Given the description of an element on the screen output the (x, y) to click on. 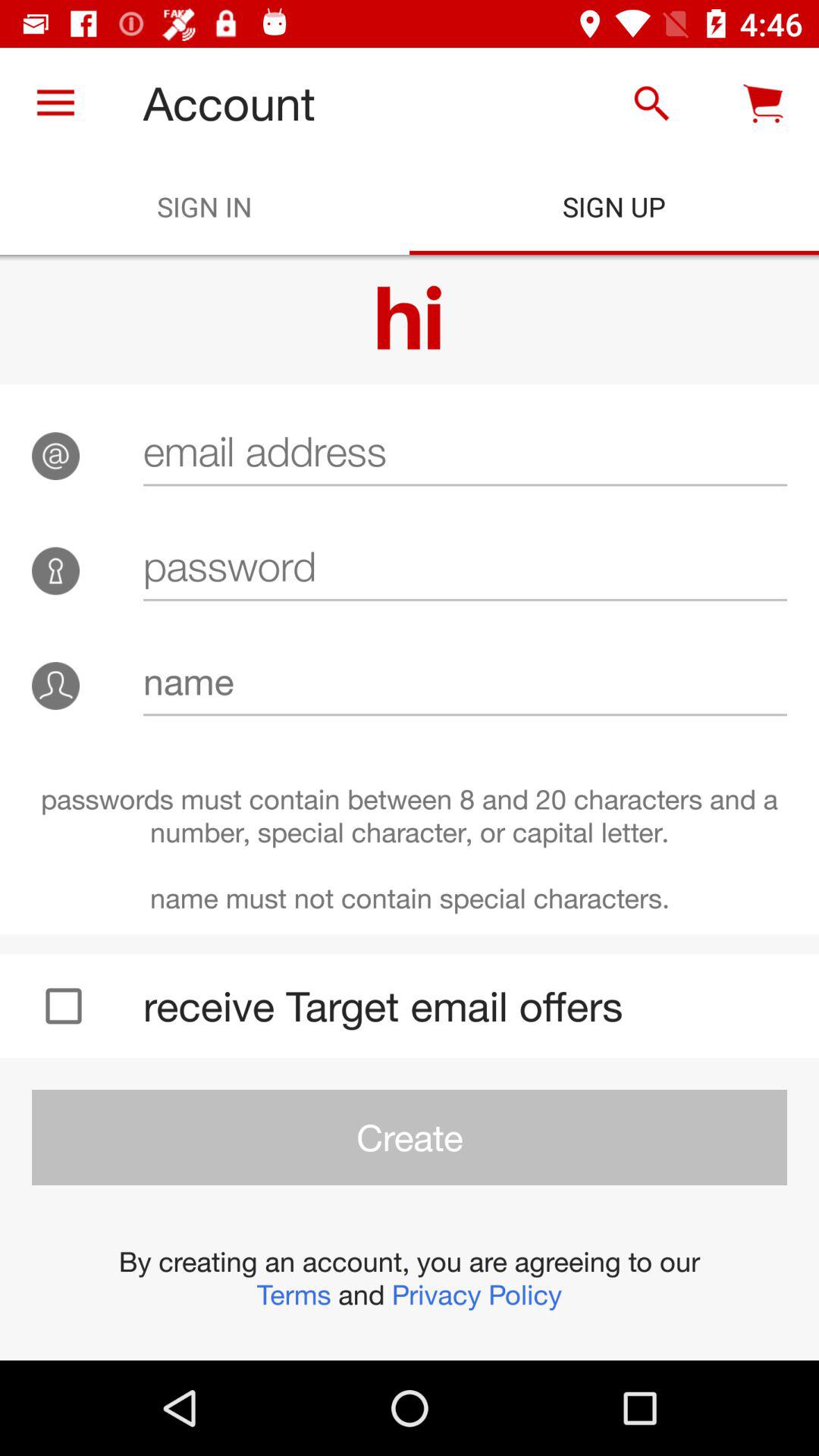
turn on the icon above the passwords must contain item (465, 681)
